Given the description of an element on the screen output the (x, y) to click on. 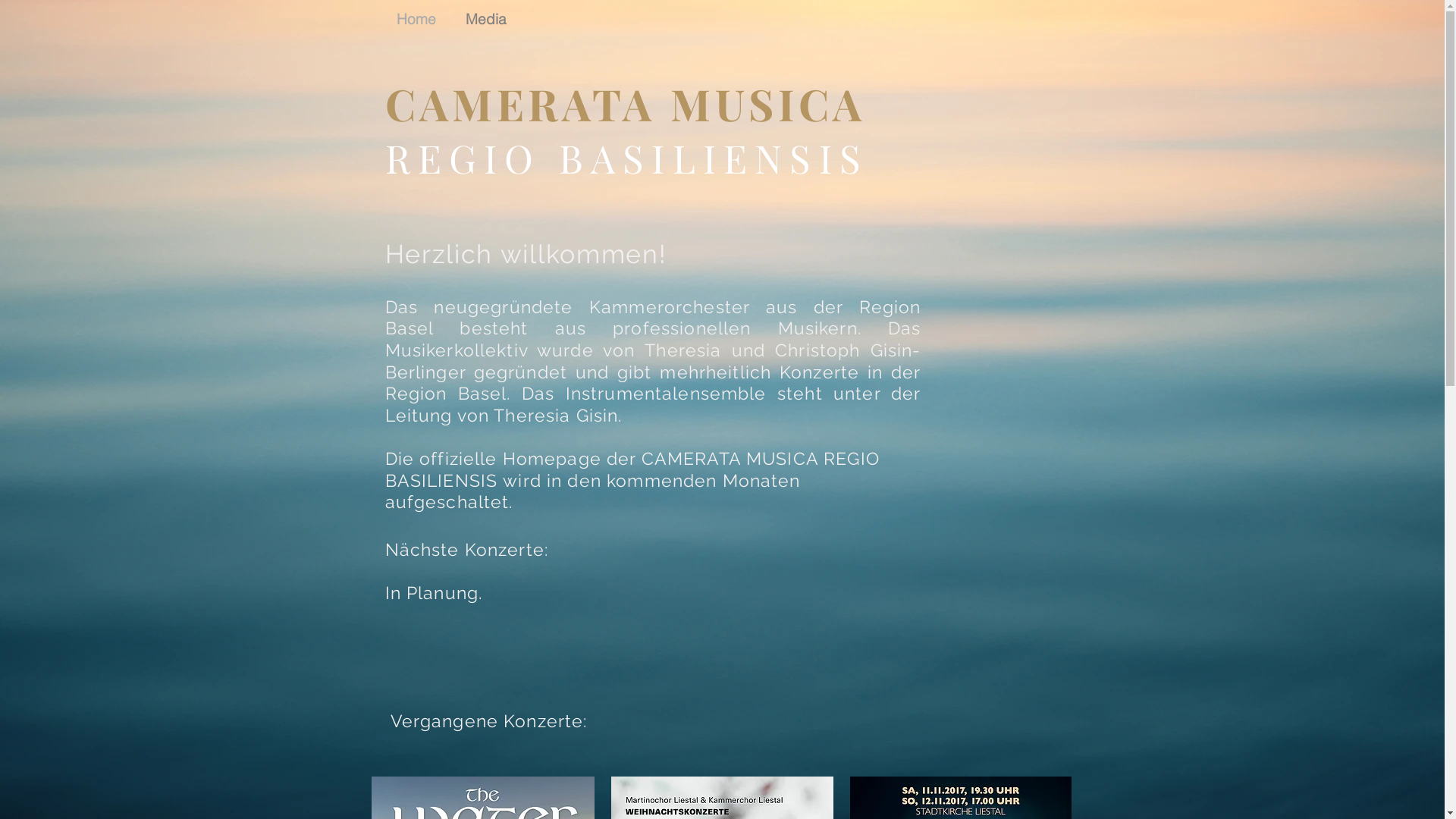
Home Element type: text (419, 18)
Media Element type: text (488, 18)
CAMERATA MUSICA Element type: text (625, 102)
